Given the description of an element on the screen output the (x, y) to click on. 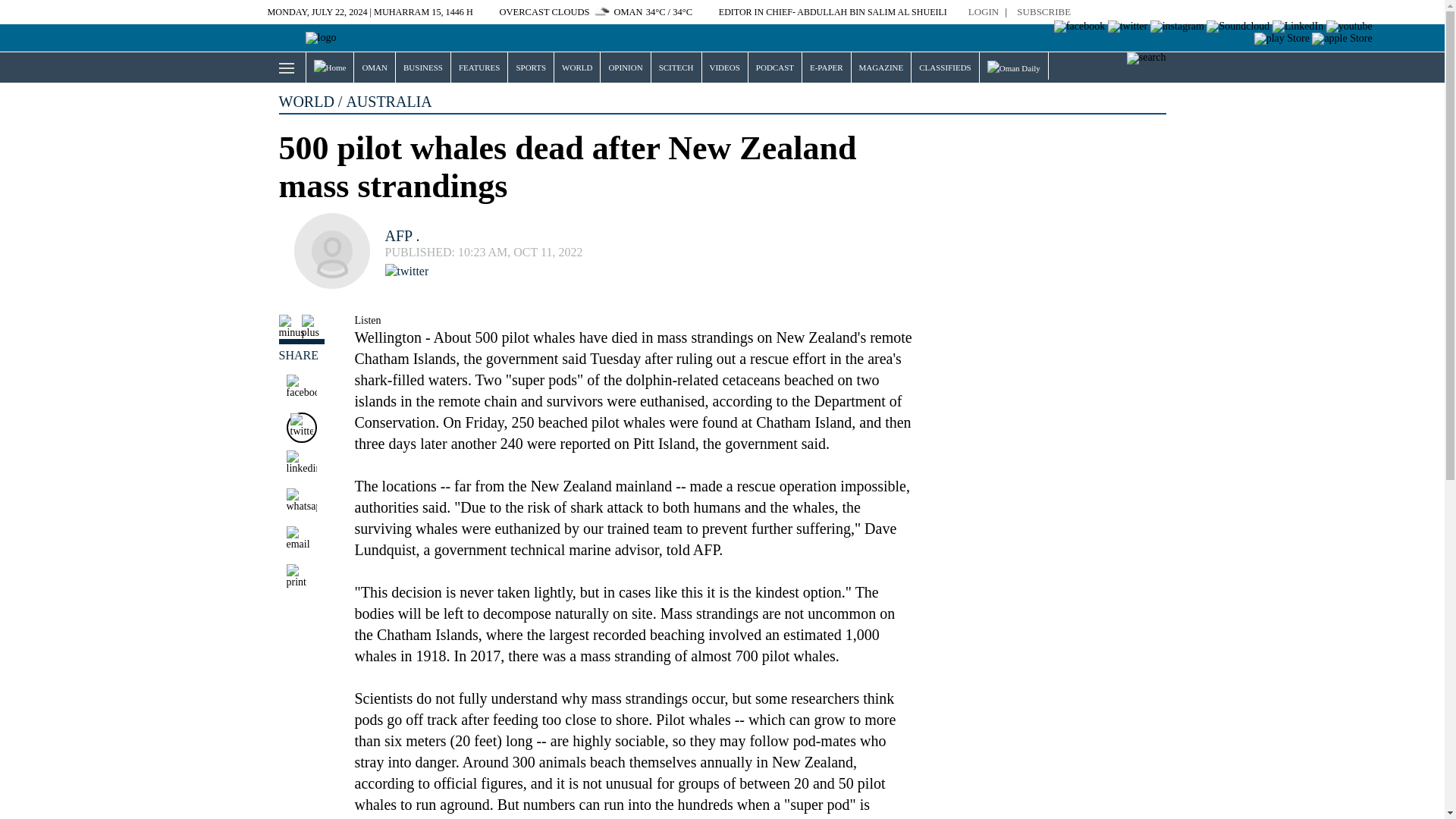
SPORTS (530, 67)
FEATURES (478, 67)
OMAN (373, 67)
Soundcloud (1238, 26)
OPINION (624, 67)
BUSINESS (422, 67)
E-PAPER (826, 67)
SCITECH (675, 67)
VIDEOS (724, 67)
SCITECH (675, 67)
MAGAZINE (881, 67)
LinkedIn (1297, 26)
WORLD (576, 67)
Youtube (1349, 26)
VIDEOS (724, 67)
